Given the description of an element on the screen output the (x, y) to click on. 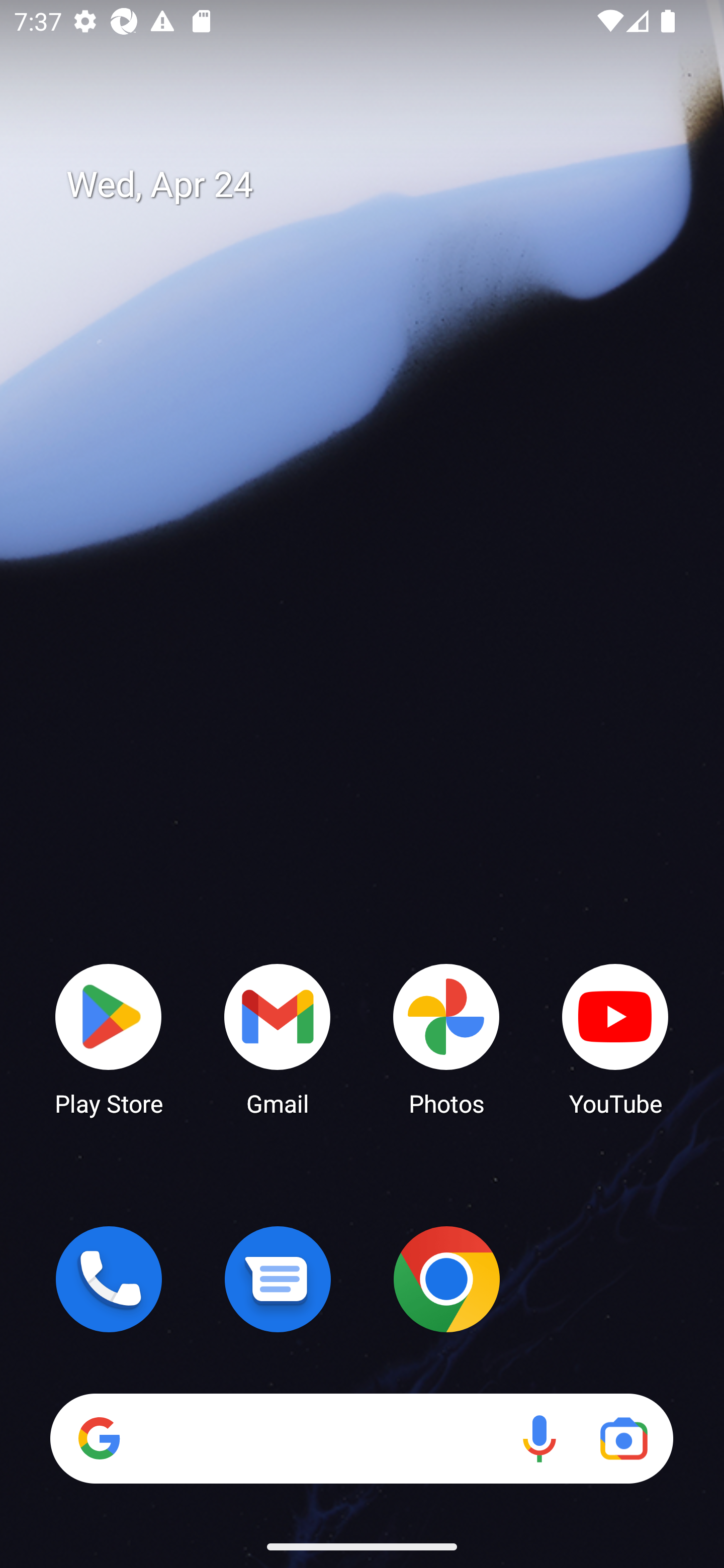
Wed, Apr 24 (375, 184)
Play Store (108, 1038)
Gmail (277, 1038)
Photos (445, 1038)
YouTube (615, 1038)
Phone (108, 1279)
Messages (277, 1279)
Chrome (446, 1279)
Search Voice search Google Lens (361, 1438)
Voice search (539, 1438)
Google Lens (623, 1438)
